Given the description of an element on the screen output the (x, y) to click on. 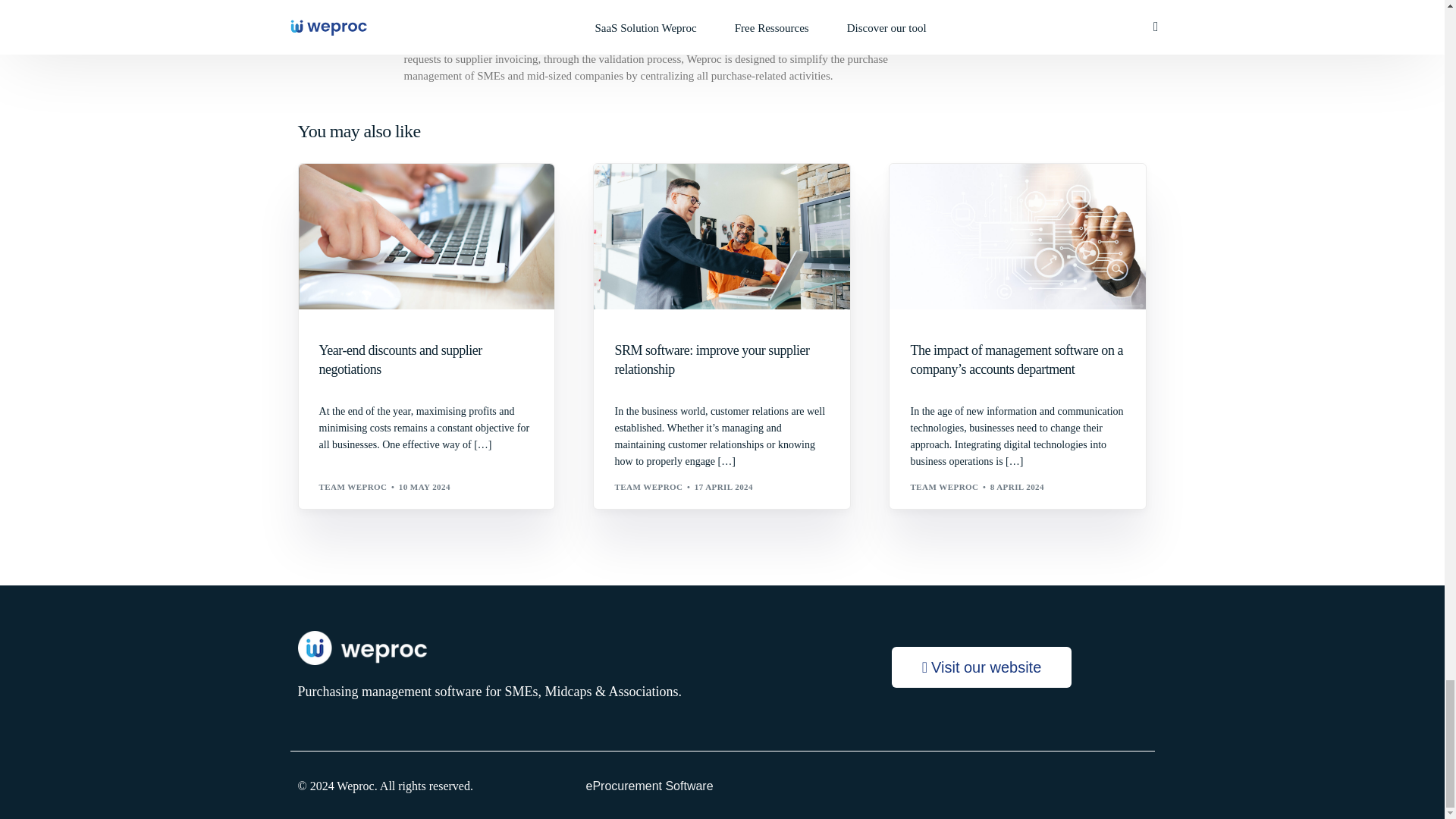
TEAM WEPROC (352, 486)
Posts by Team Weproc (944, 486)
Posts by Team Weproc (352, 486)
View Post: Year-end discounts and supplier negotiations  (426, 360)
Year-end discounts and supplier negotiations (426, 360)
 View Post: SRM software: improve your supplier relationship (722, 236)
View Post: SRM software: improve your supplier relationship  (721, 360)
Posts by Team Weproc (648, 486)
 View Post: Year-end discounts and supplier negotiations (426, 236)
Team Weproc (444, 19)
